Given the description of an element on the screen output the (x, y) to click on. 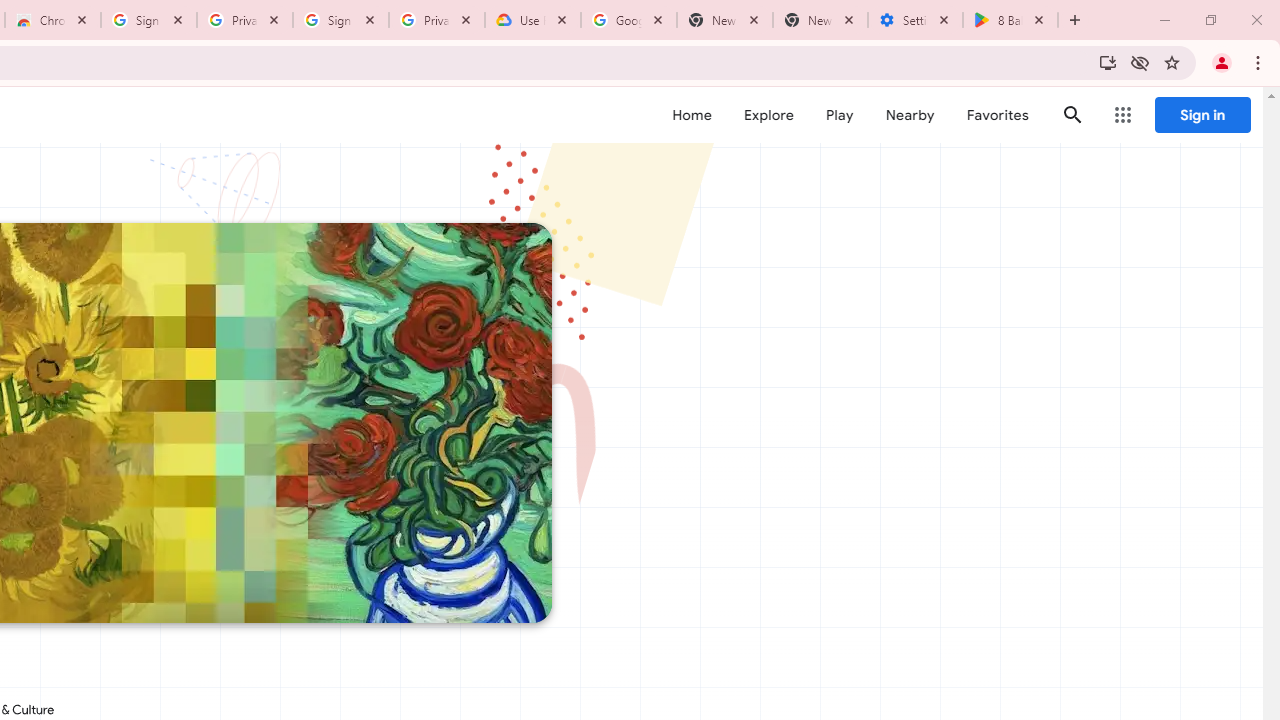
Explore (768, 115)
Nearby (910, 115)
Install Google Arts & Culture (1107, 62)
Close Experiment (1222, 126)
Play (840, 115)
Sign in - Google Accounts (149, 20)
